Given the description of an element on the screen output the (x, y) to click on. 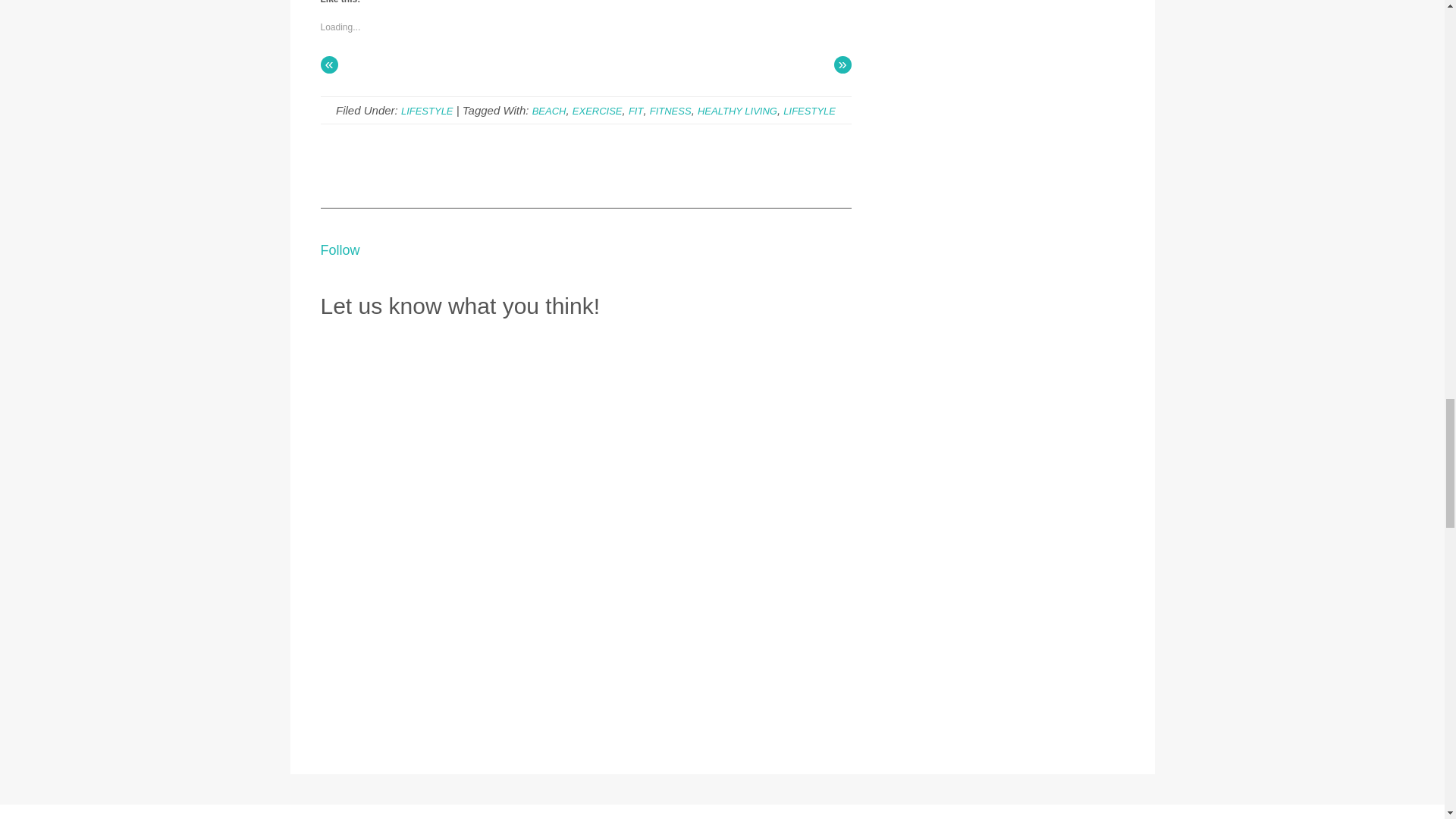
Next Post: The Power of Home (842, 64)
BEACH (549, 111)
Previous Post: A Fairytale Town in the Czech Republic (328, 64)
FIT (635, 111)
LIFESTYLE (809, 111)
FITNESS (670, 111)
EXERCISE (597, 111)
HEALTHY LIVING (737, 111)
Follow (339, 249)
